Given the description of an element on the screen output the (x, y) to click on. 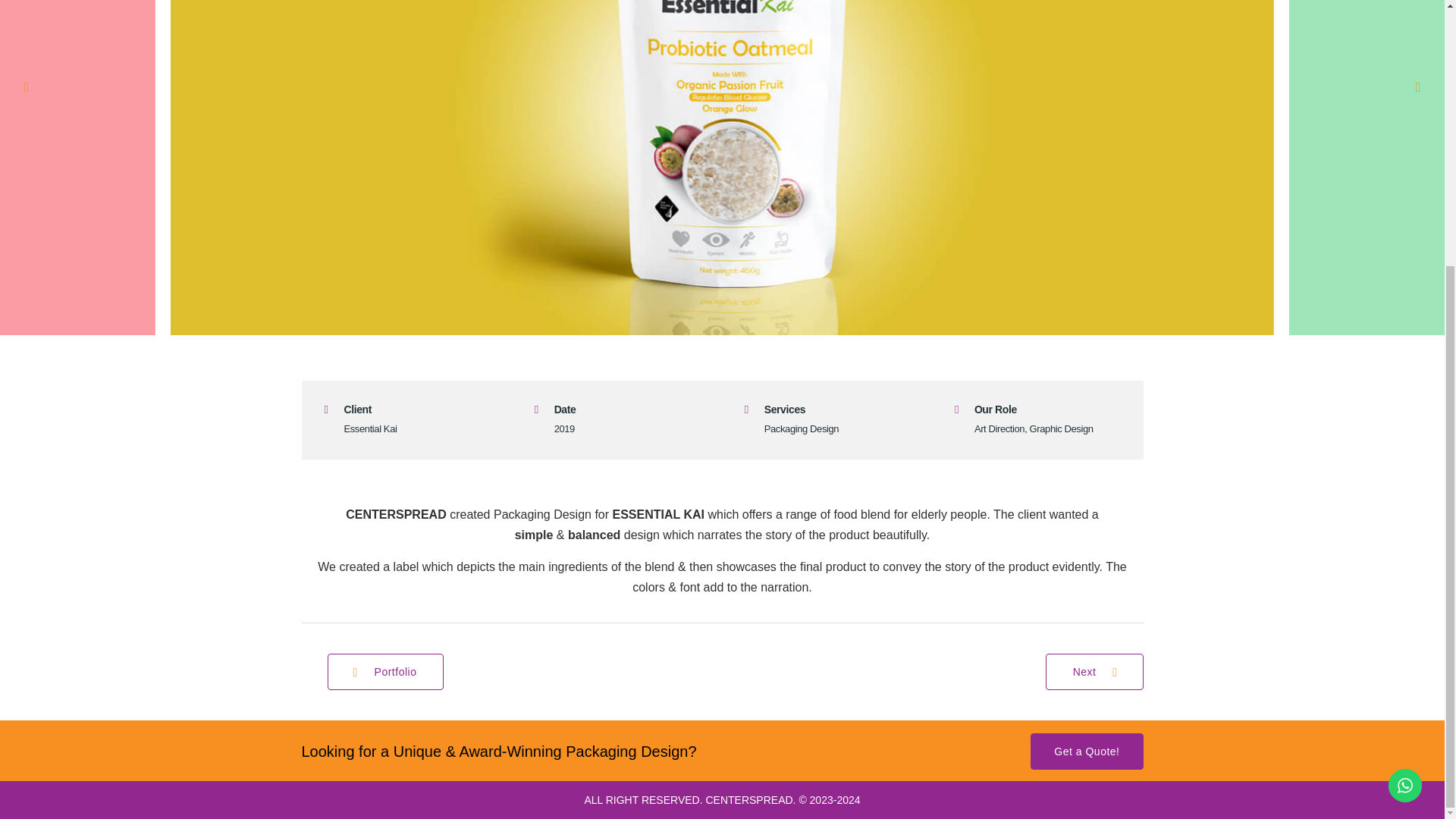
Next (1093, 671)
Portfolio (385, 671)
Get a Quote! (1086, 751)
